Given the description of an element on the screen output the (x, y) to click on. 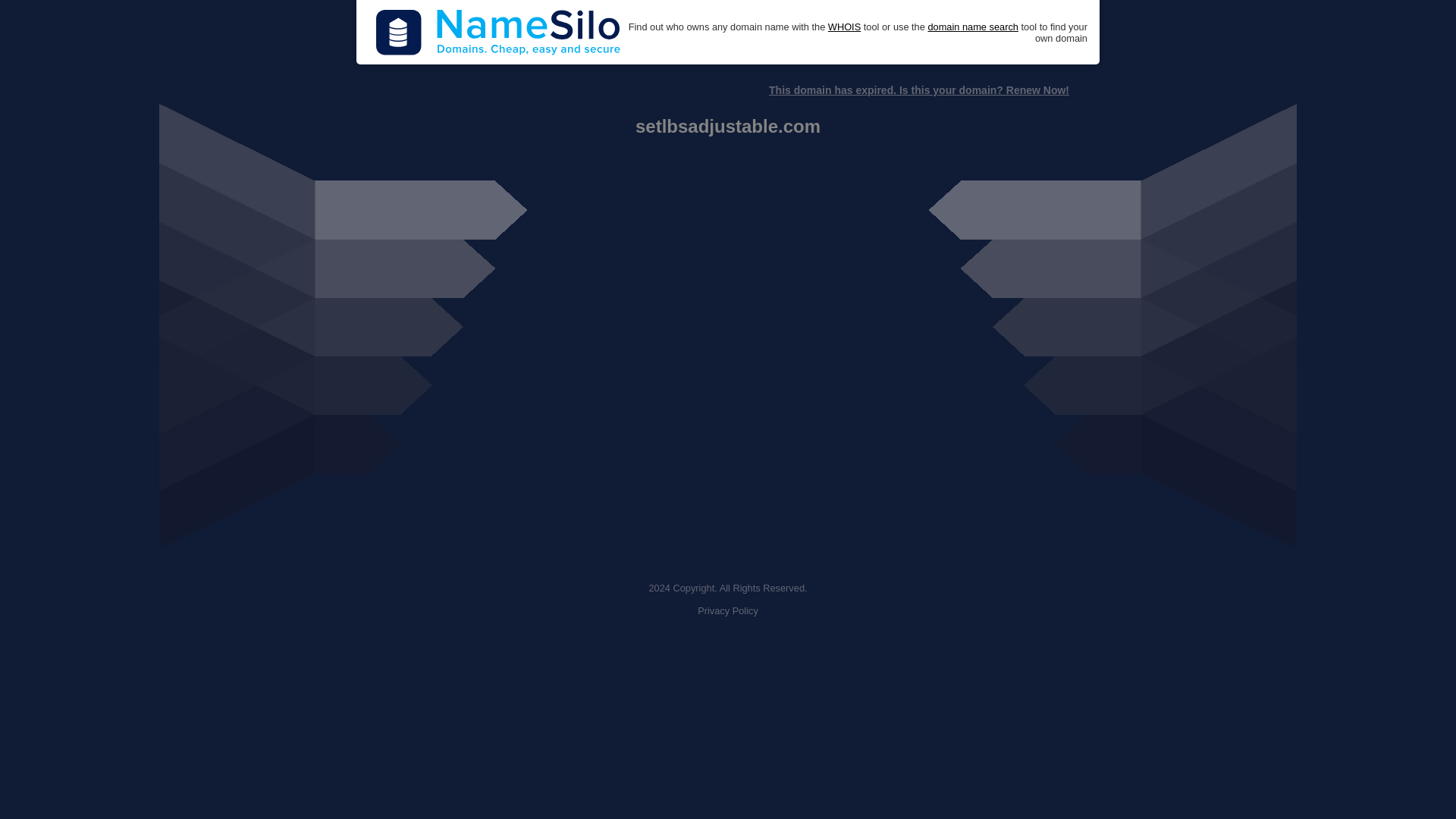
domain name search (972, 26)
This domain has expired. Is this your domain? Renew Now! (918, 90)
WHOIS (844, 26)
Privacy Policy (727, 610)
